Given the description of an element on the screen output the (x, y) to click on. 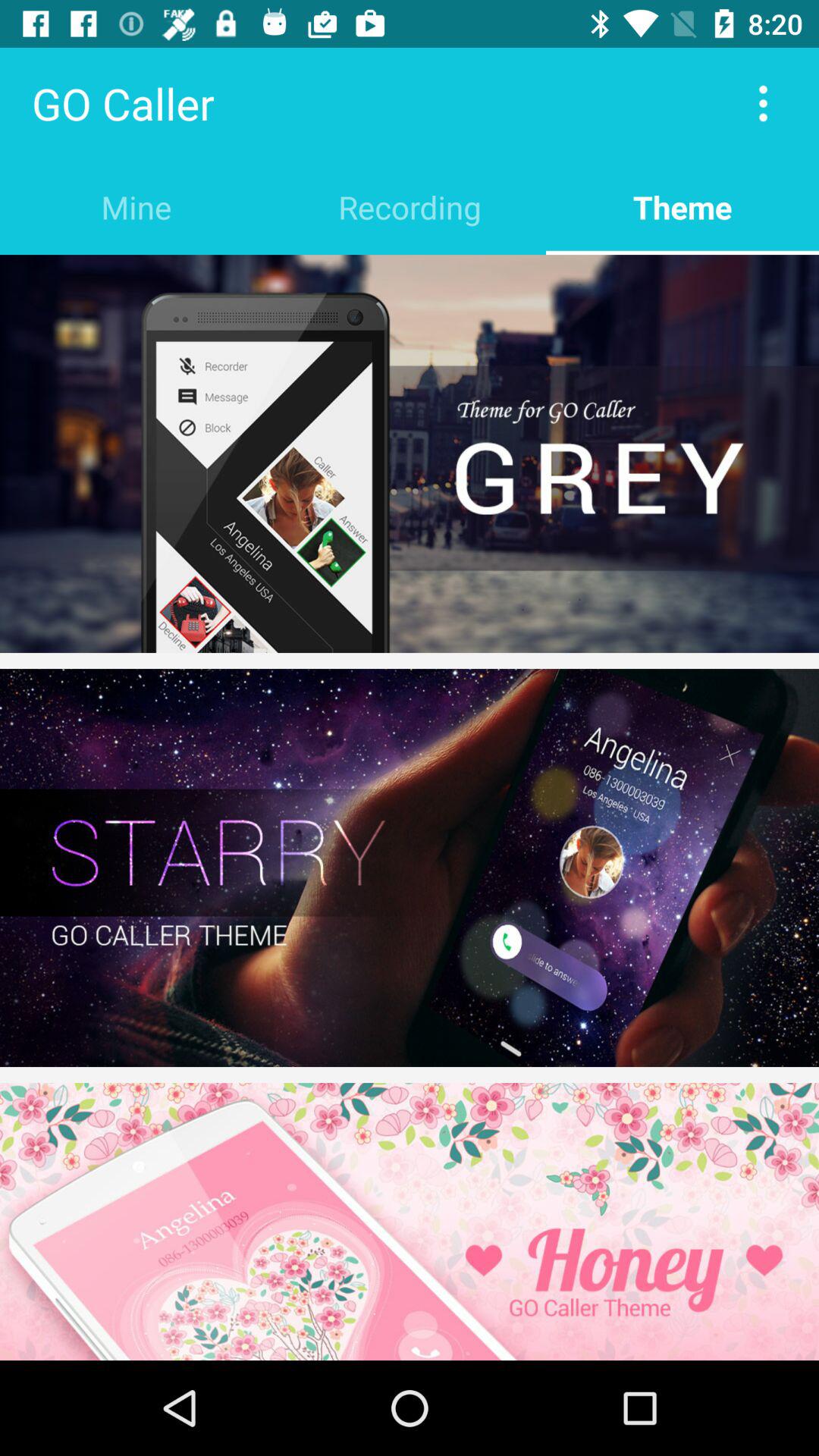
select grey theme (409, 453)
